Given the description of an element on the screen output the (x, y) to click on. 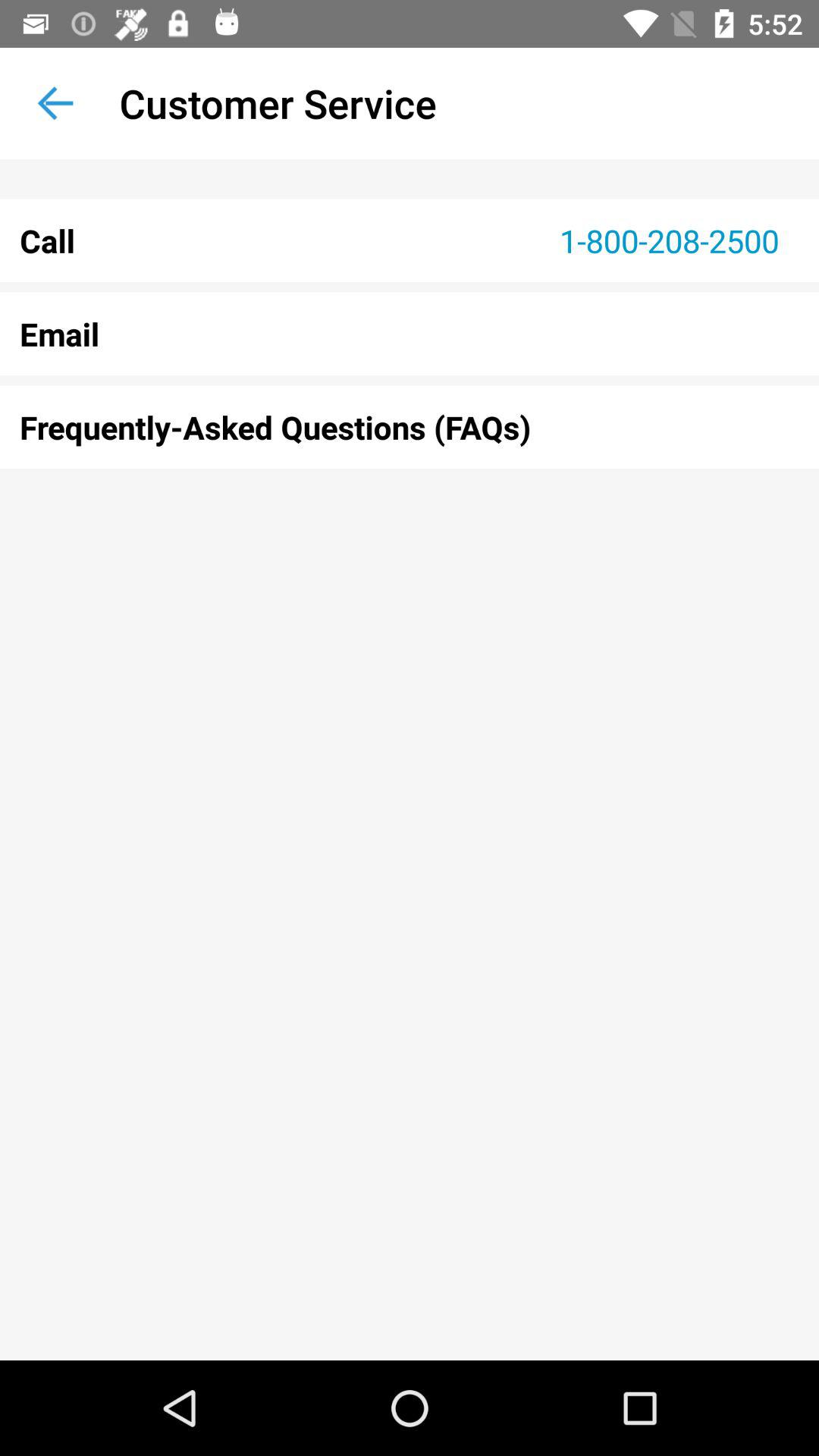
tap item below the email item (409, 426)
